Given the description of an element on the screen output the (x, y) to click on. 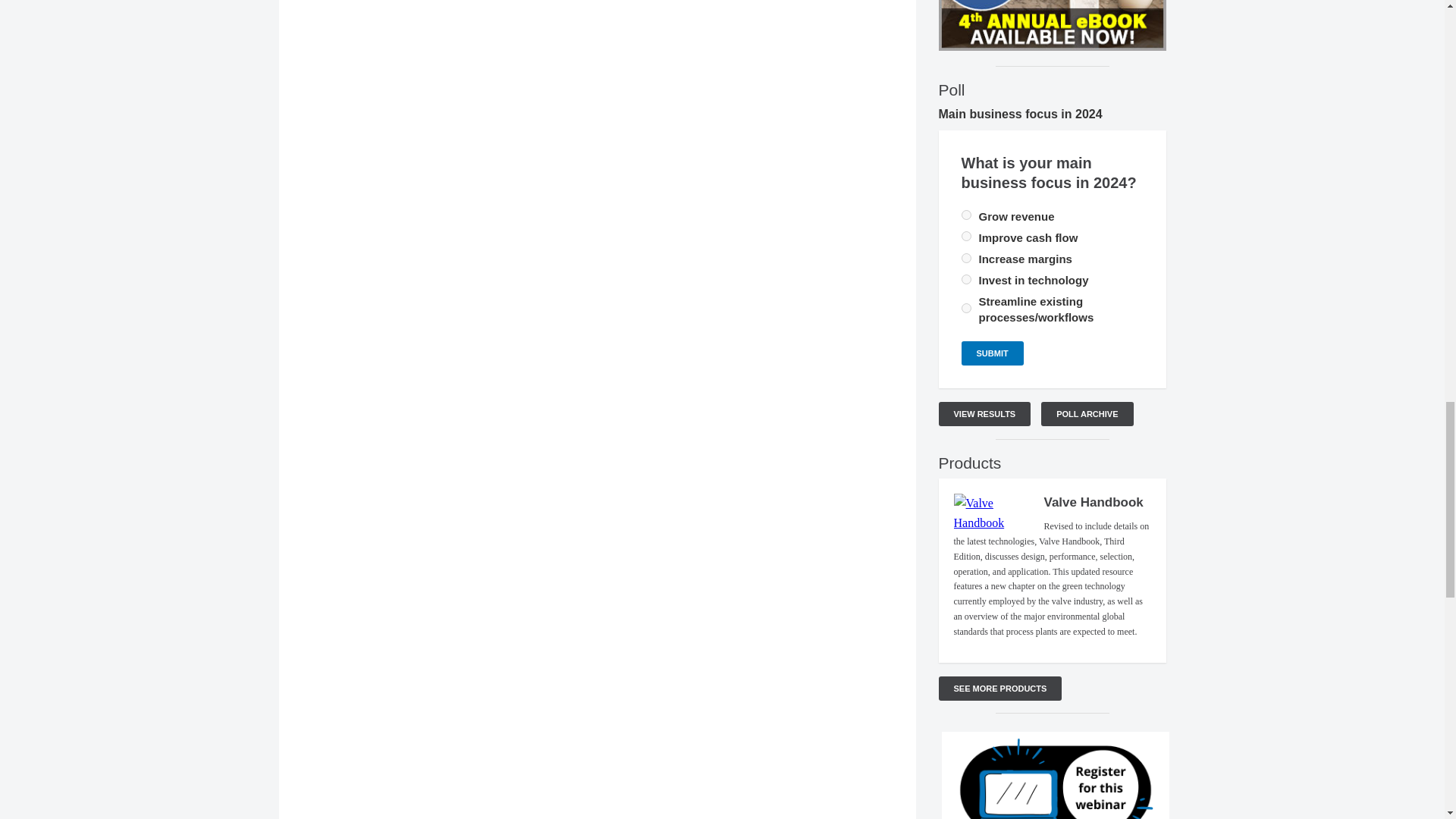
317 (965, 257)
Submit (991, 353)
320 (965, 279)
318 (965, 307)
316 (965, 235)
319 (965, 214)
